Given the description of an element on the screen output the (x, y) to click on. 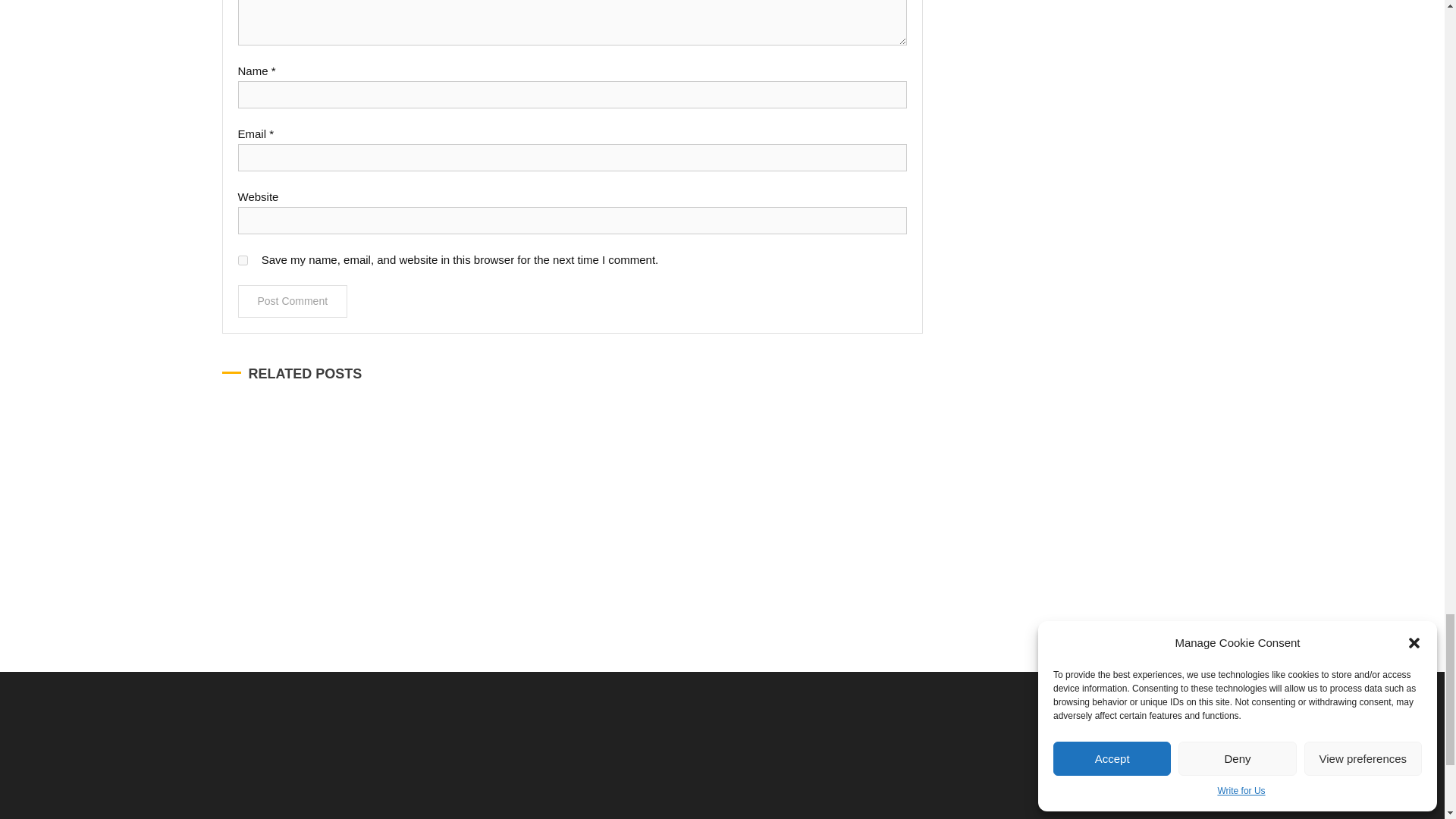
Post Comment (292, 301)
yes (242, 260)
